Given the description of an element on the screen output the (x, y) to click on. 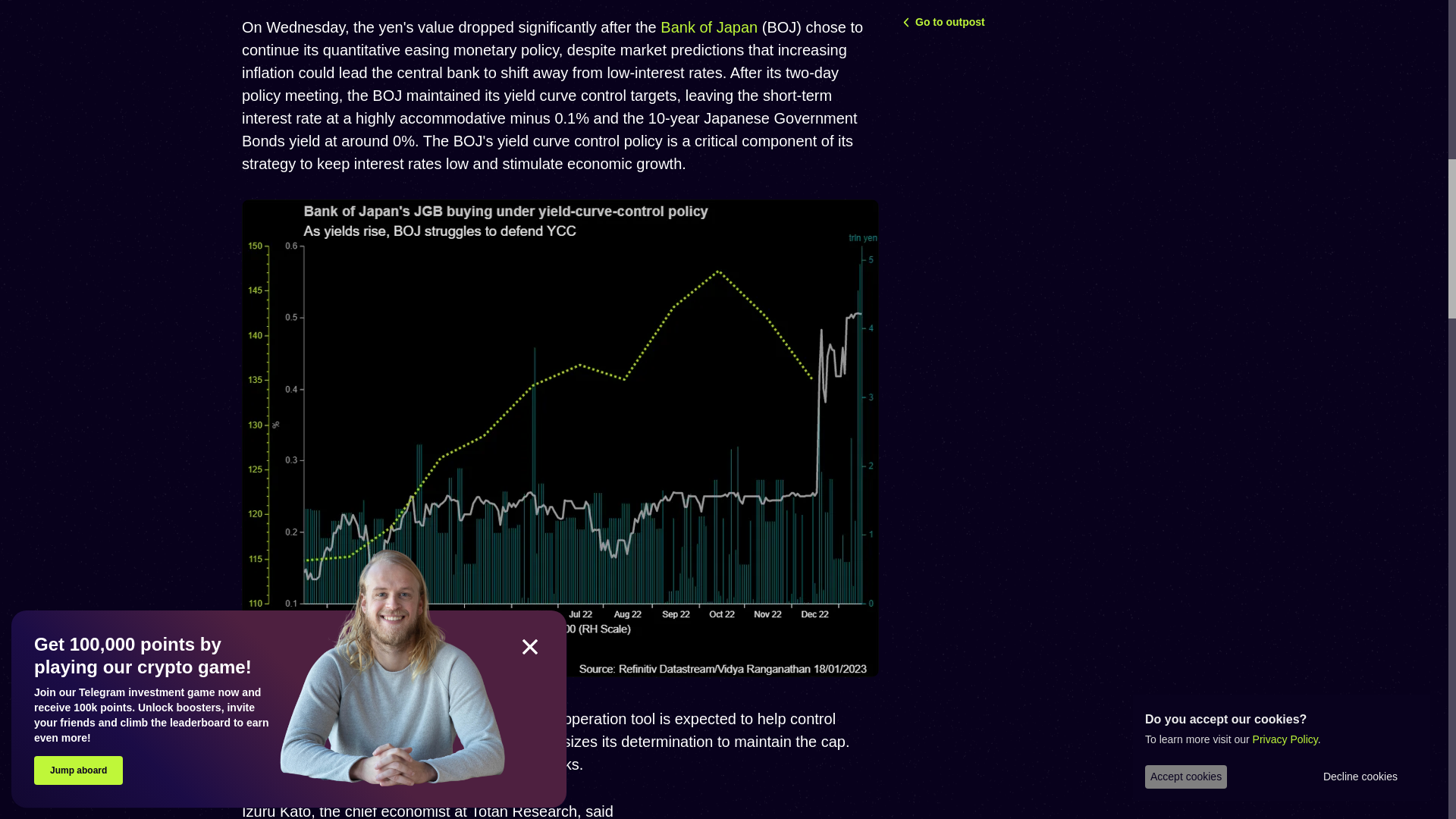
Bank of Japan (709, 27)
